Given the description of an element on the screen output the (x, y) to click on. 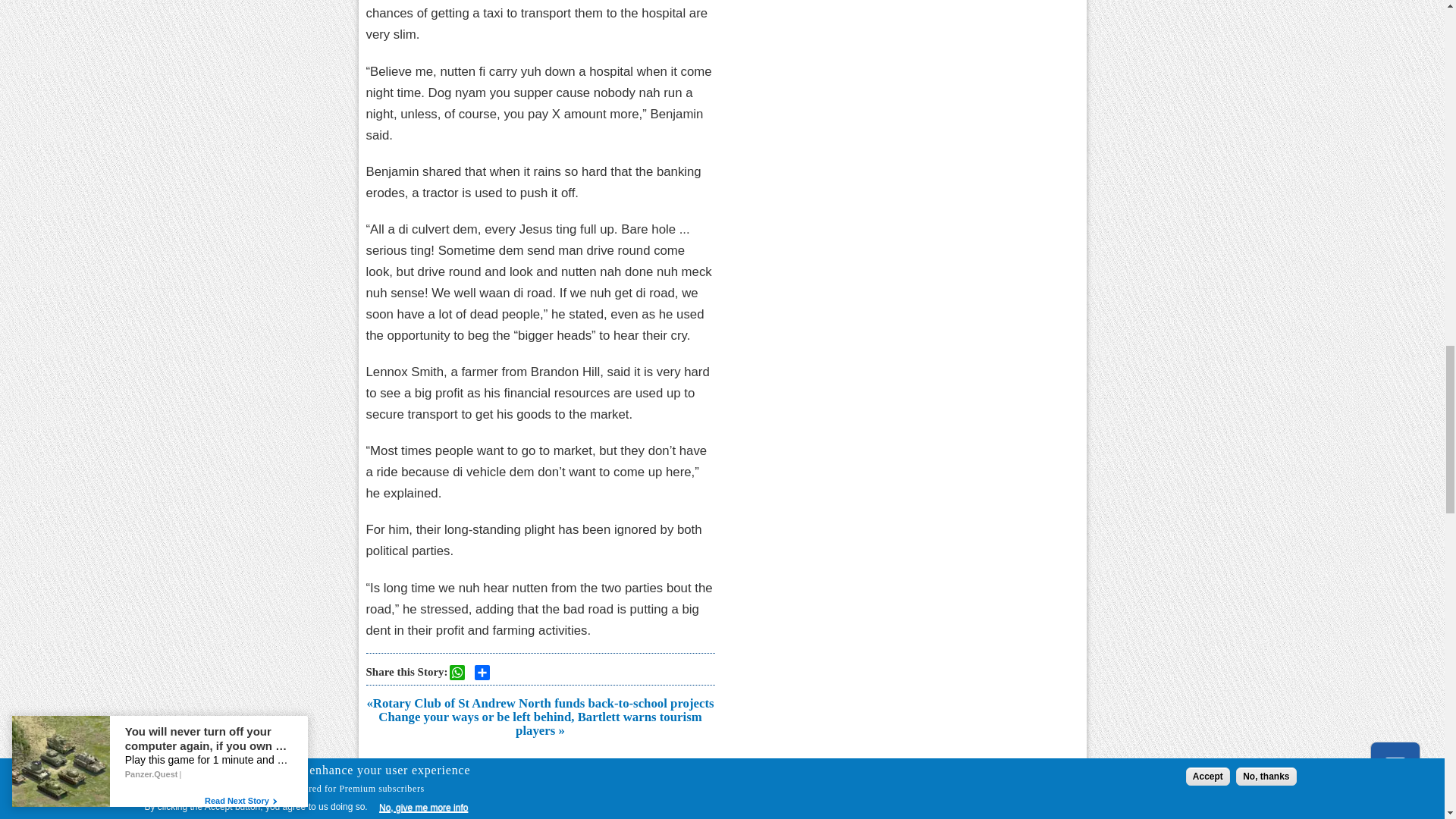
Advertisement (539, 782)
